Given the description of an element on the screen output the (x, y) to click on. 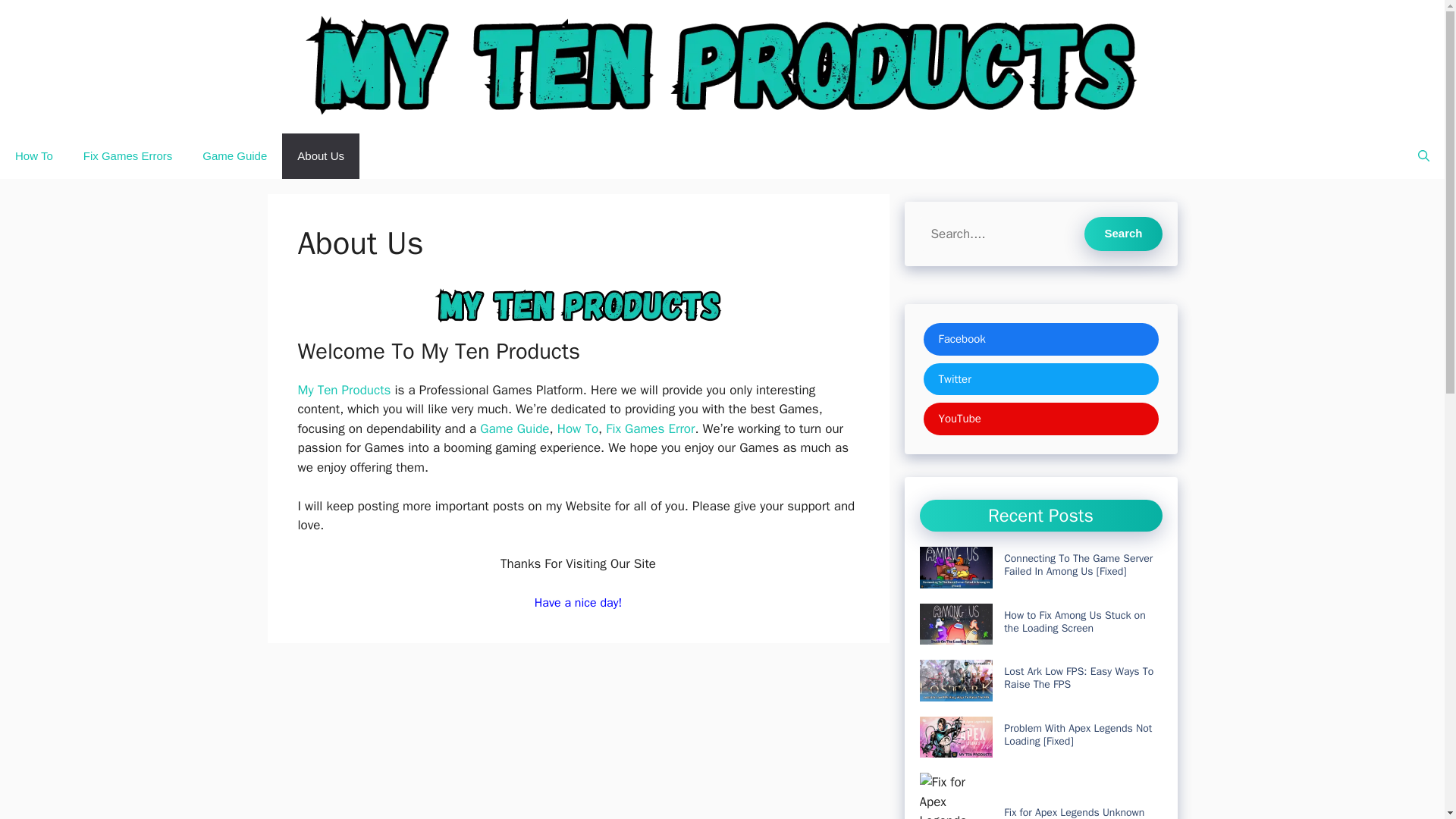
Fix Games Error (649, 428)
Twitter (1040, 379)
Lost Ark Low FPS: Easy Ways To Raise The FPS (1078, 678)
Search (1122, 234)
Game Guide (514, 428)
Fix Games Errors (127, 156)
How To (577, 428)
About Us (320, 156)
How to Fix Among Us Stuck on the Loading Screen (1074, 621)
My Ten Products (343, 390)
Fix for Apex Legends Unknown File Version (1074, 812)
Game Guide (234, 156)
YouTube (1040, 418)
Facebook (1040, 338)
How To (34, 156)
